Given the description of an element on the screen output the (x, y) to click on. 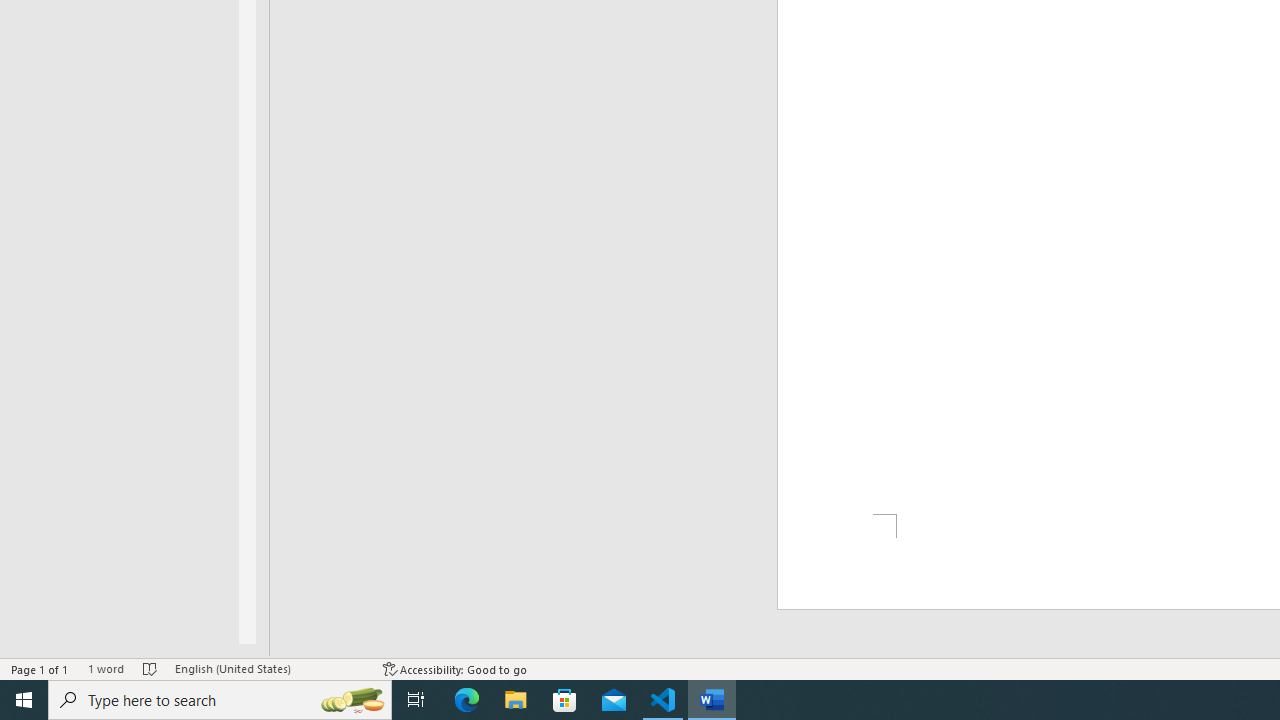
Spelling and Grammar Check No Errors (150, 668)
Language English (United States) (269, 668)
Accessibility Checker Accessibility: Good to go (455, 668)
Page Number Page 1 of 1 (39, 668)
